Given the description of an element on the screen output the (x, y) to click on. 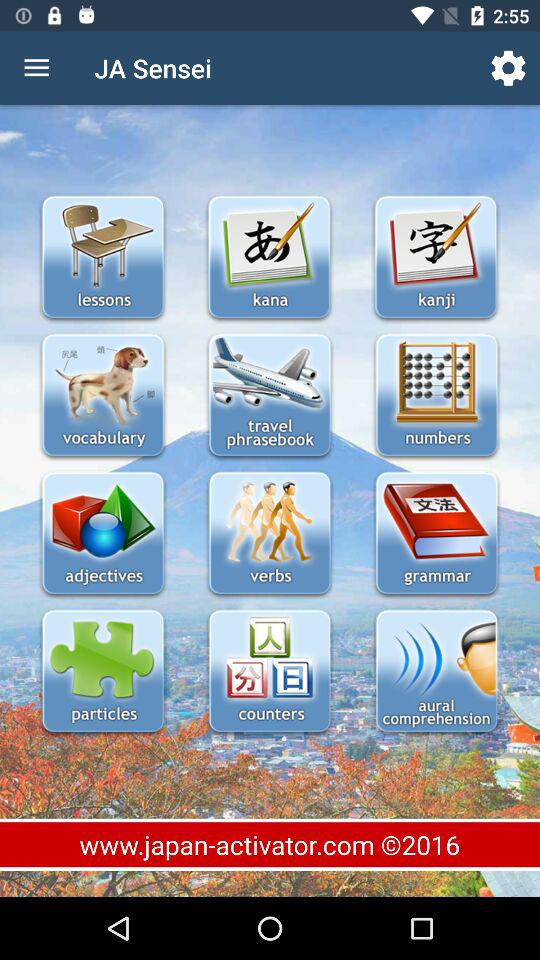
aural comprehension lesson (436, 672)
